Given the description of an element on the screen output the (x, y) to click on. 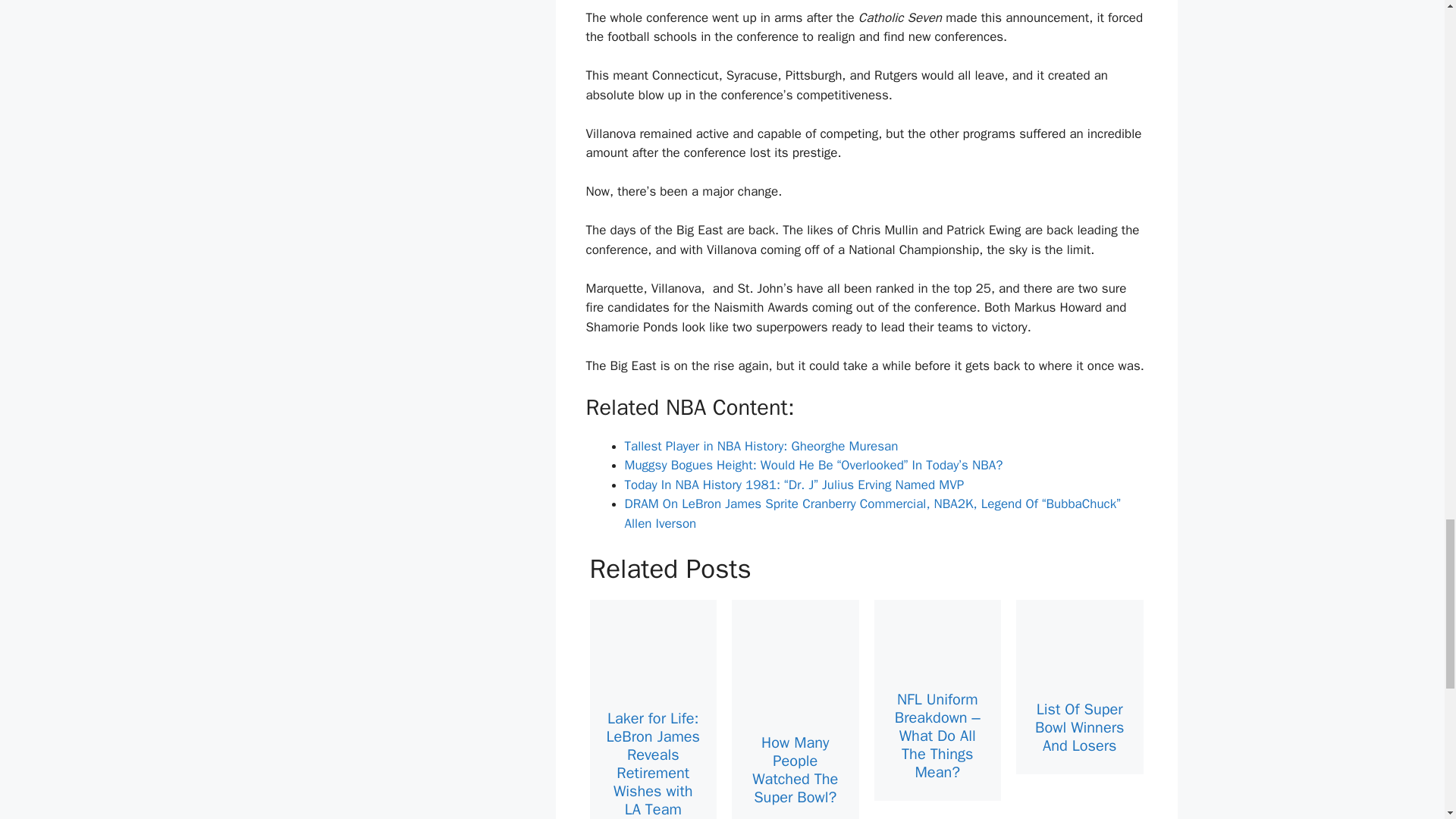
How Many People Watched The Super Bowl? (795, 769)
Tallest Player in NBA History: Gheorghe Muresan (761, 446)
